Given the description of an element on the screen output the (x, y) to click on. 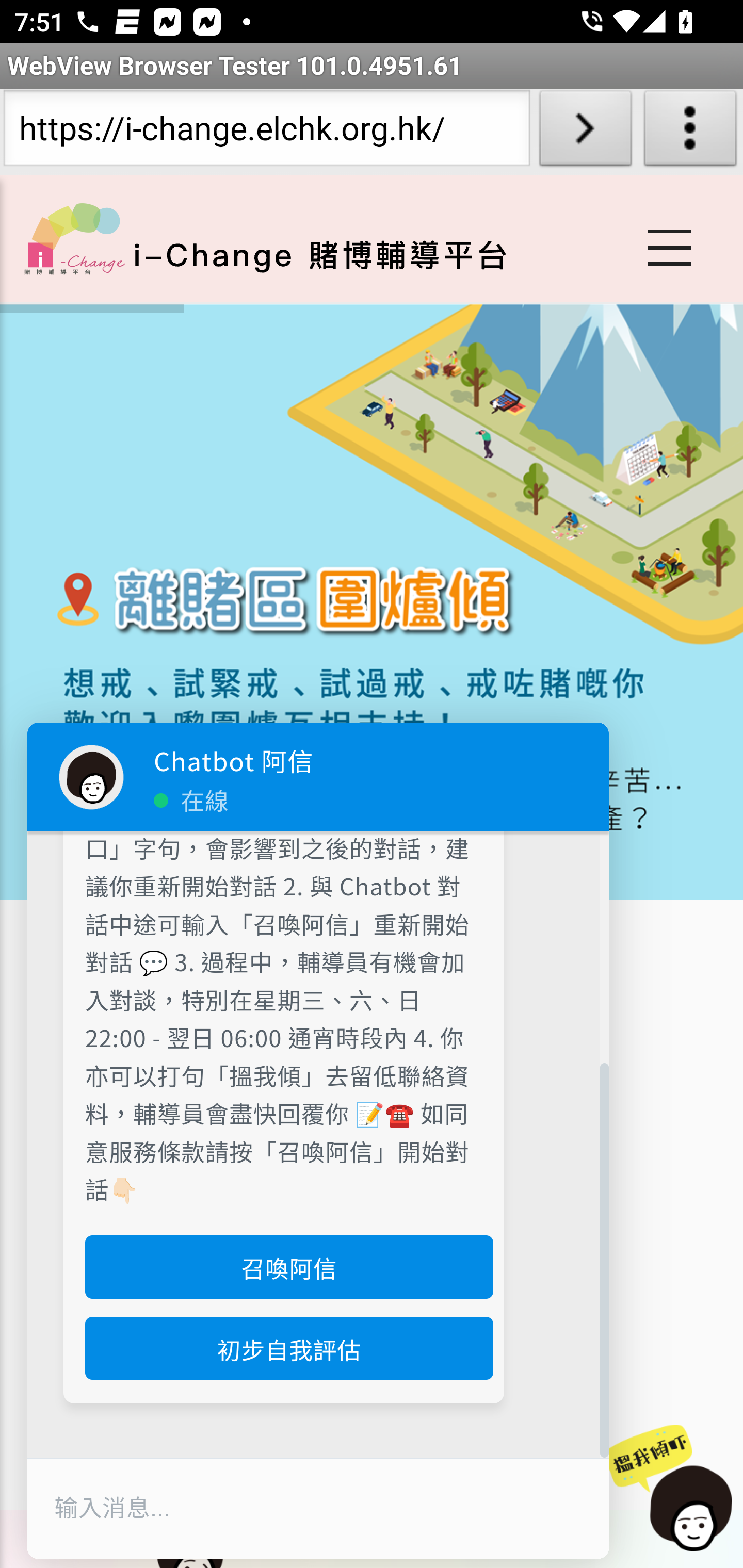
https://i-change.elchk.org.hk/ (266, 132)
Load URL (585, 132)
About WebView (690, 132)
Home (74, 238)
Chat Now (677, 1488)
